Given the description of an element on the screen output the (x, y) to click on. 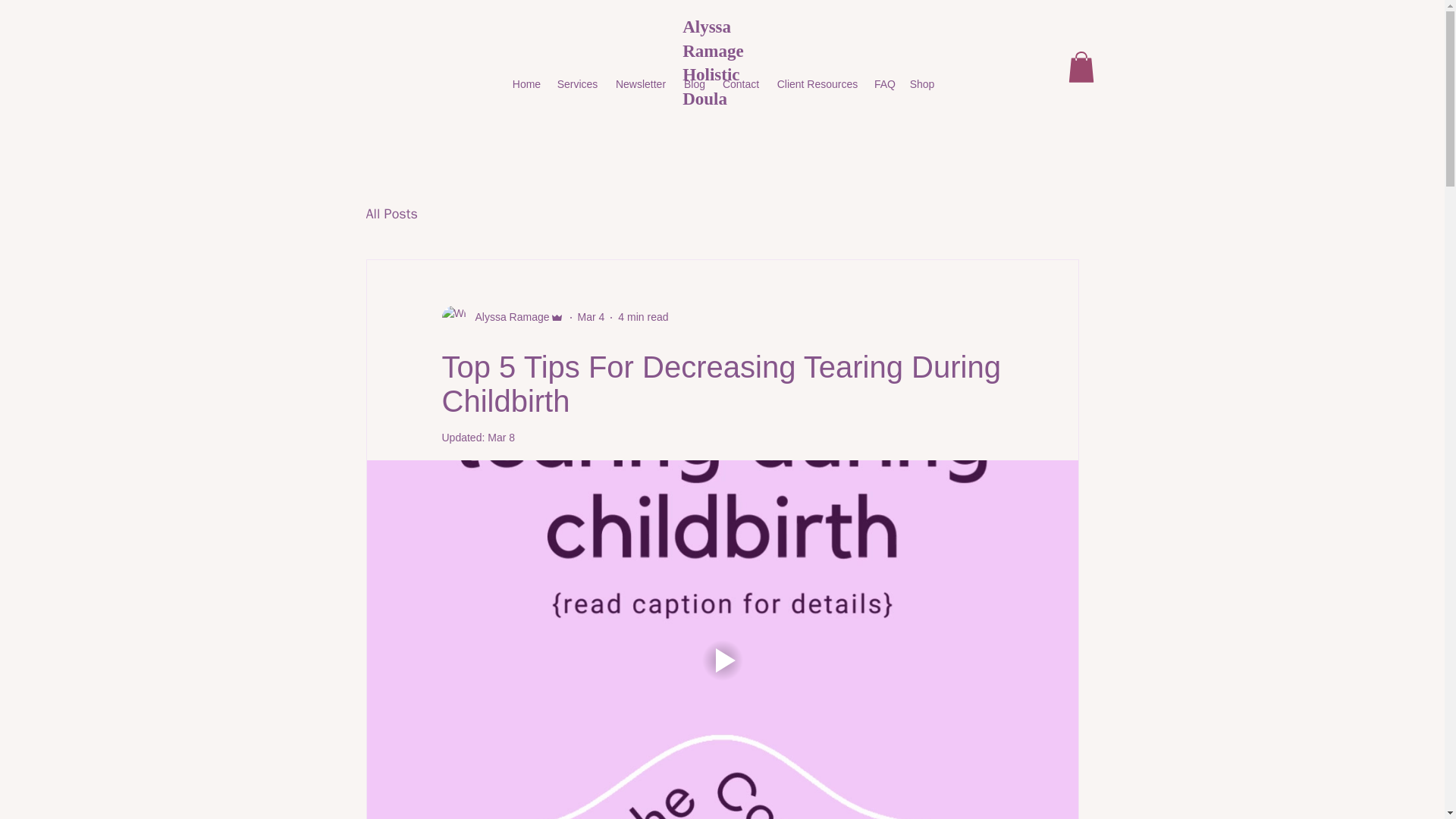
Home (525, 83)
Newsletter (640, 83)
4 min read (642, 316)
Services (576, 83)
Alyssa Ramage (506, 317)
Alyssa Ramage (502, 316)
Mar 4 (591, 316)
Contact (740, 83)
Mar 8 (501, 436)
Blog (694, 83)
